Given the description of an element on the screen output the (x, y) to click on. 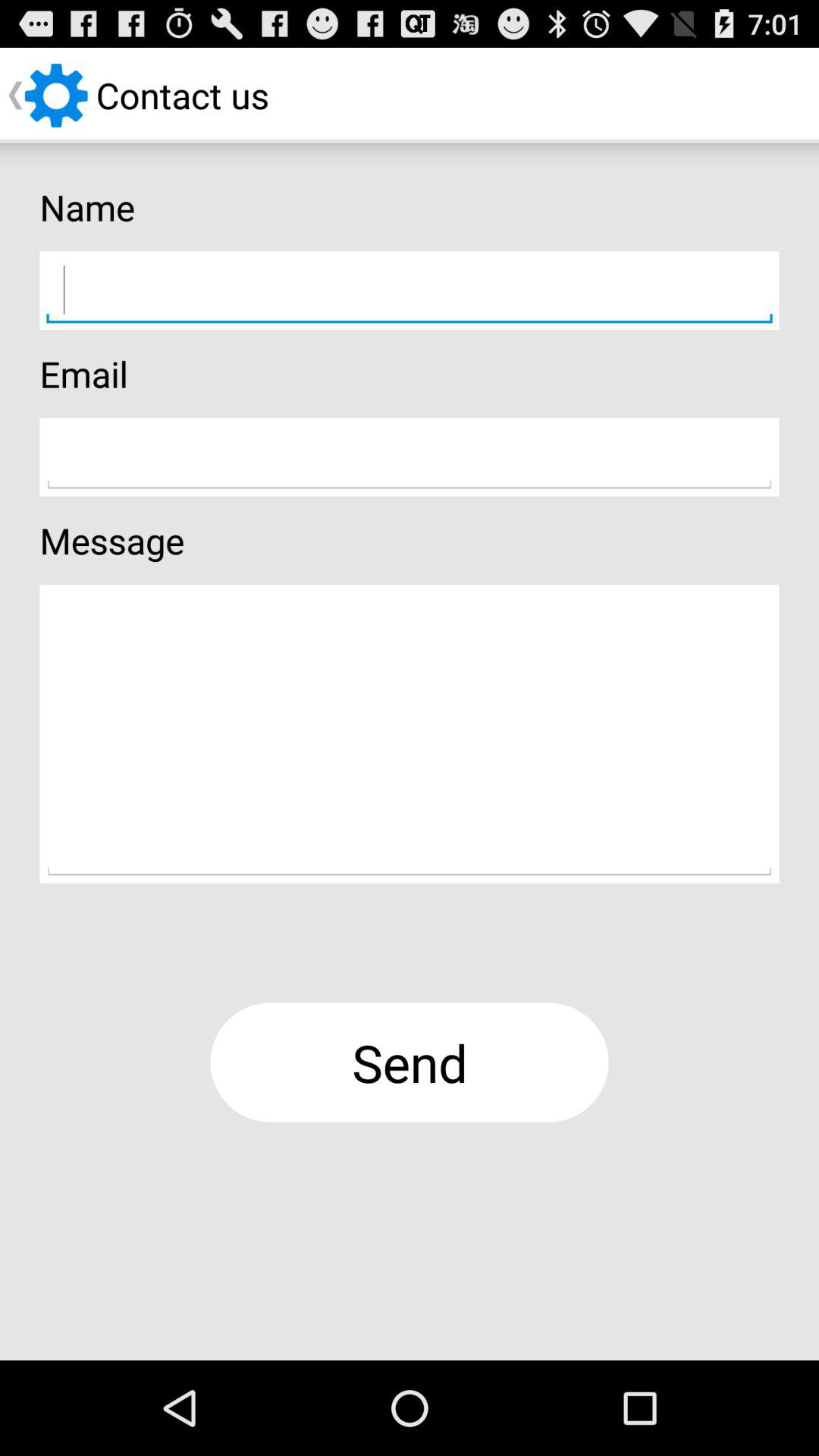
enter message (409, 733)
